Given the description of an element on the screen output the (x, y) to click on. 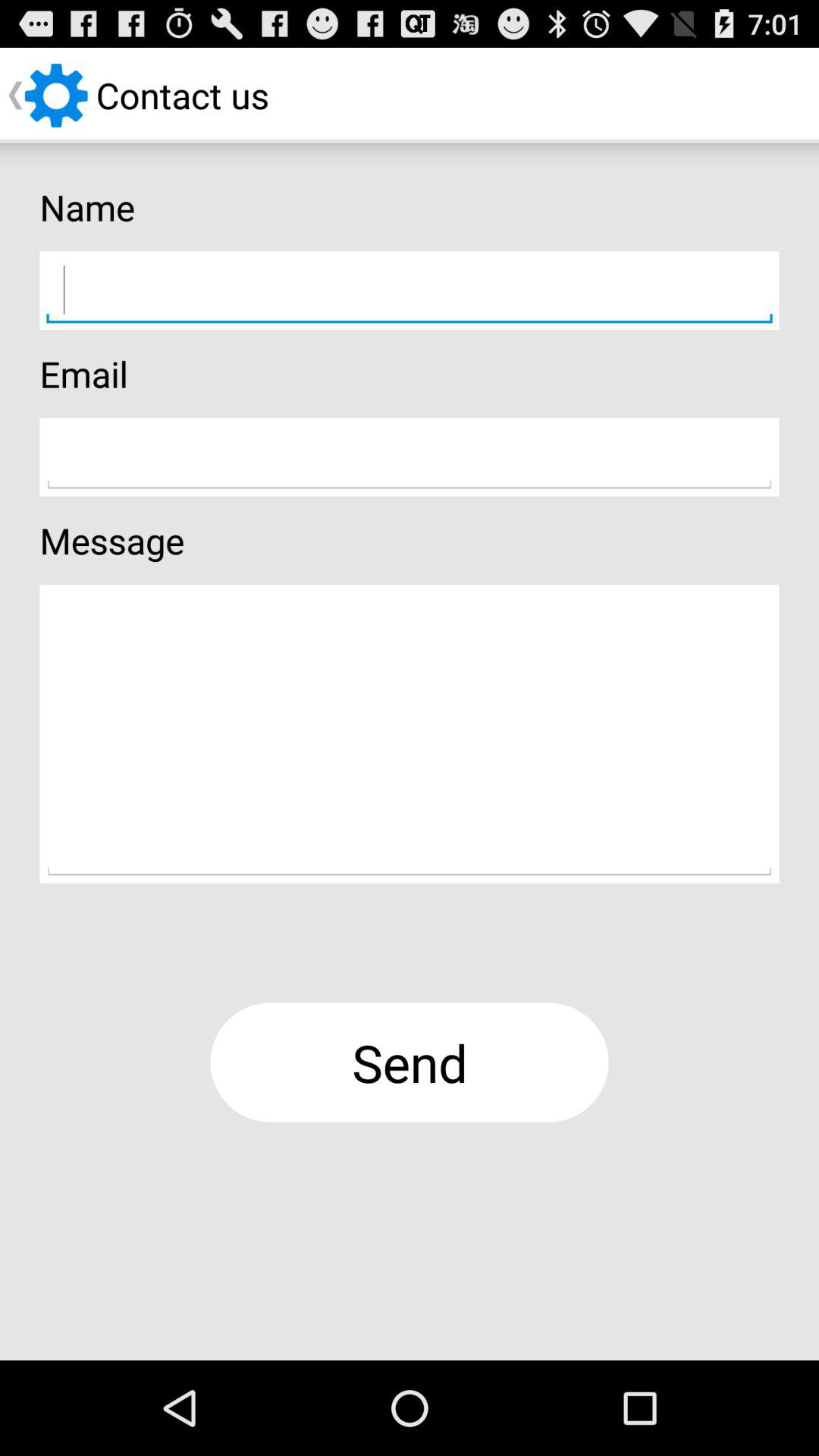
enter message (409, 733)
